Given the description of an element on the screen output the (x, y) to click on. 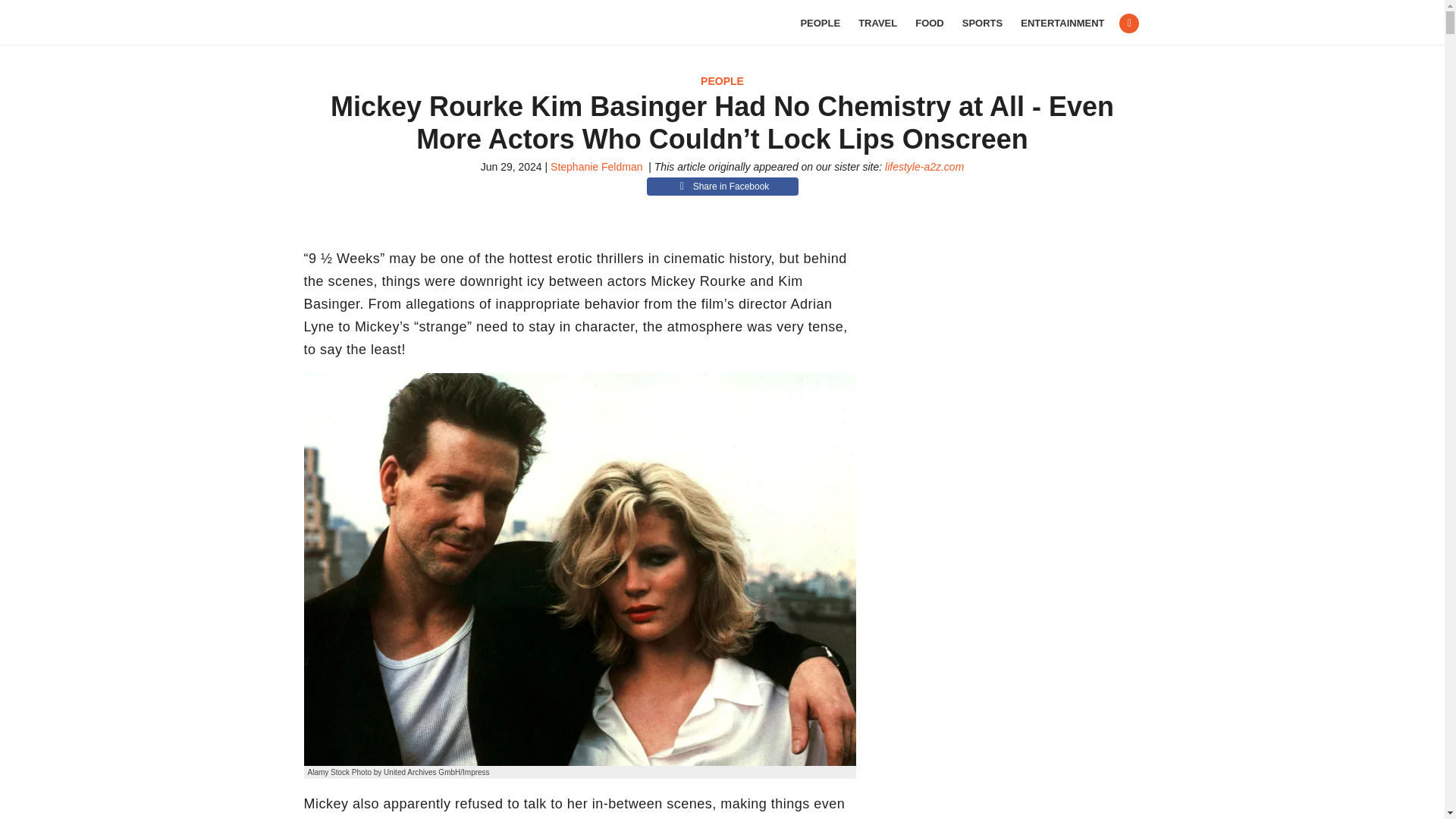
PEOPLE (819, 23)
Herald Weekly (391, 22)
Facebook (1128, 23)
lifestyle-a2z.com (924, 166)
ENTERTAINMENT (1061, 23)
TRAVEL (877, 23)
Stephanie Feldman (596, 166)
Share in Facebook (721, 186)
PEOPLE (722, 80)
